Given the description of an element on the screen output the (x, y) to click on. 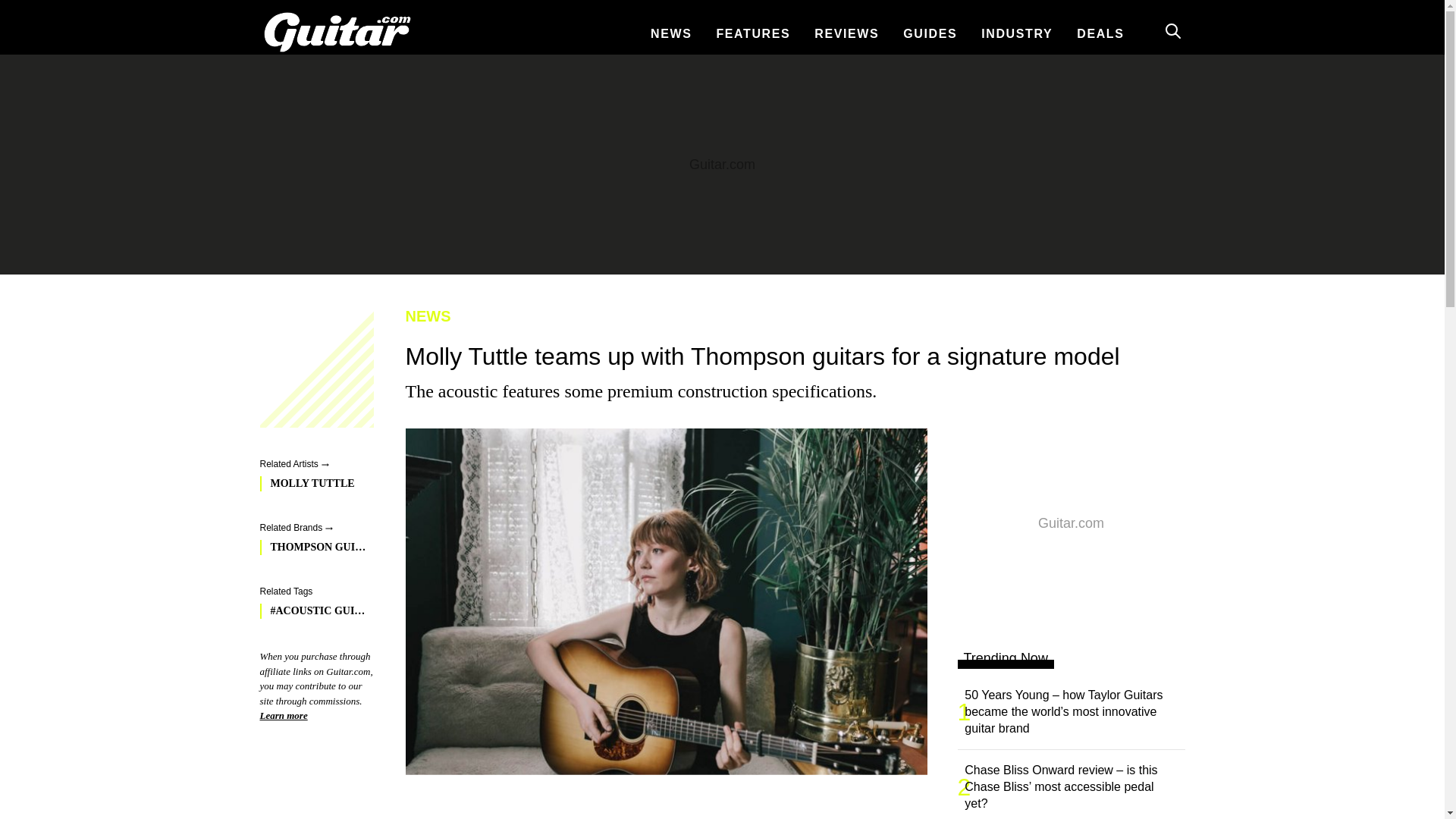
News (789, 315)
REVIEWS (846, 33)
MOLLY TUTTLE (312, 483)
DEALS (1099, 33)
Thompson Guitars (312, 547)
Learn more (283, 715)
Acoustic Guitars (312, 611)
THOMPSON GUITARS (312, 547)
INDUSTRY (1016, 33)
GUIDES (929, 33)
FEATURES (753, 33)
Molly Tuttle (312, 483)
NEWS (671, 33)
NEWS (789, 315)
